Given the description of an element on the screen output the (x, y) to click on. 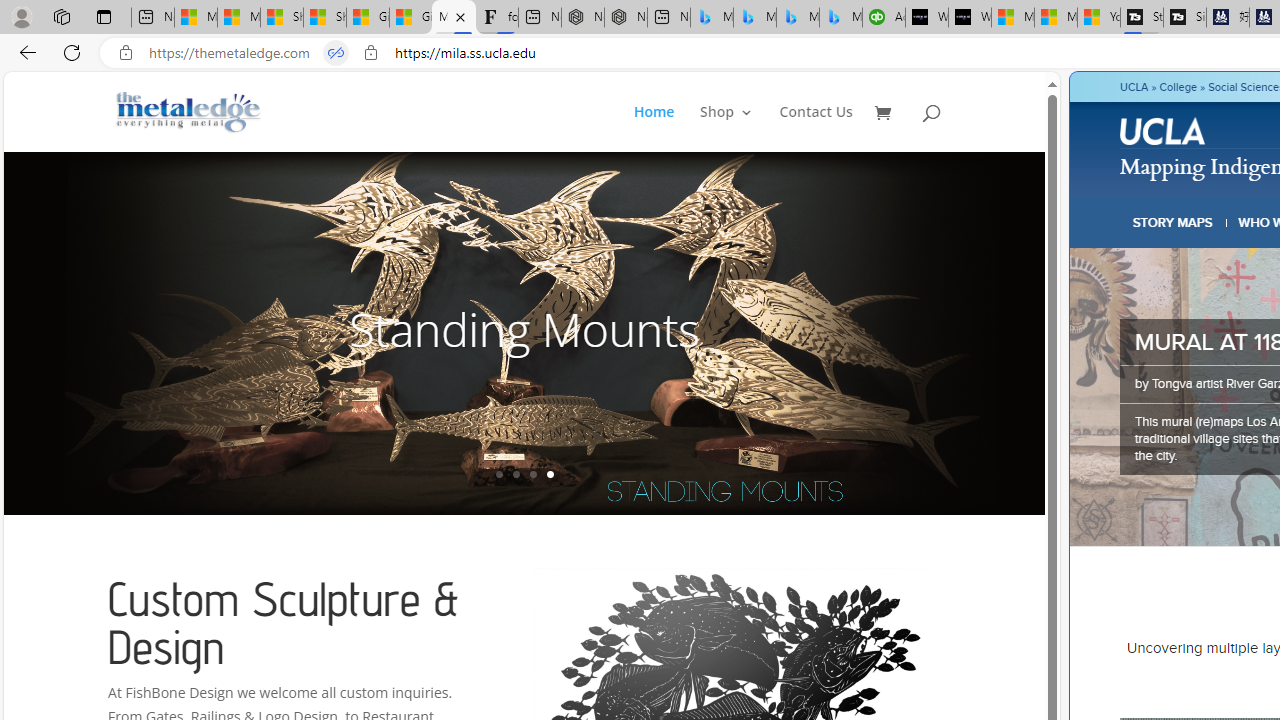
Metal Fish Sculptures & Metal Designs (189, 111)
Shanghai, China weather forecast | Microsoft Weather (324, 17)
Microsoft Bing Travel - Shangri-La Hotel Bangkok (840, 17)
Home (665, 128)
Contact Us (815, 128)
Gilma and Hector both pose tropical trouble for Hawaii (411, 17)
Mapping Indigenous LA (453, 17)
UCLA logo (1162, 130)
Accounting Software for Accountants, CPAs and Bookkeepers (883, 17)
